Given the description of an element on the screen output the (x, y) to click on. 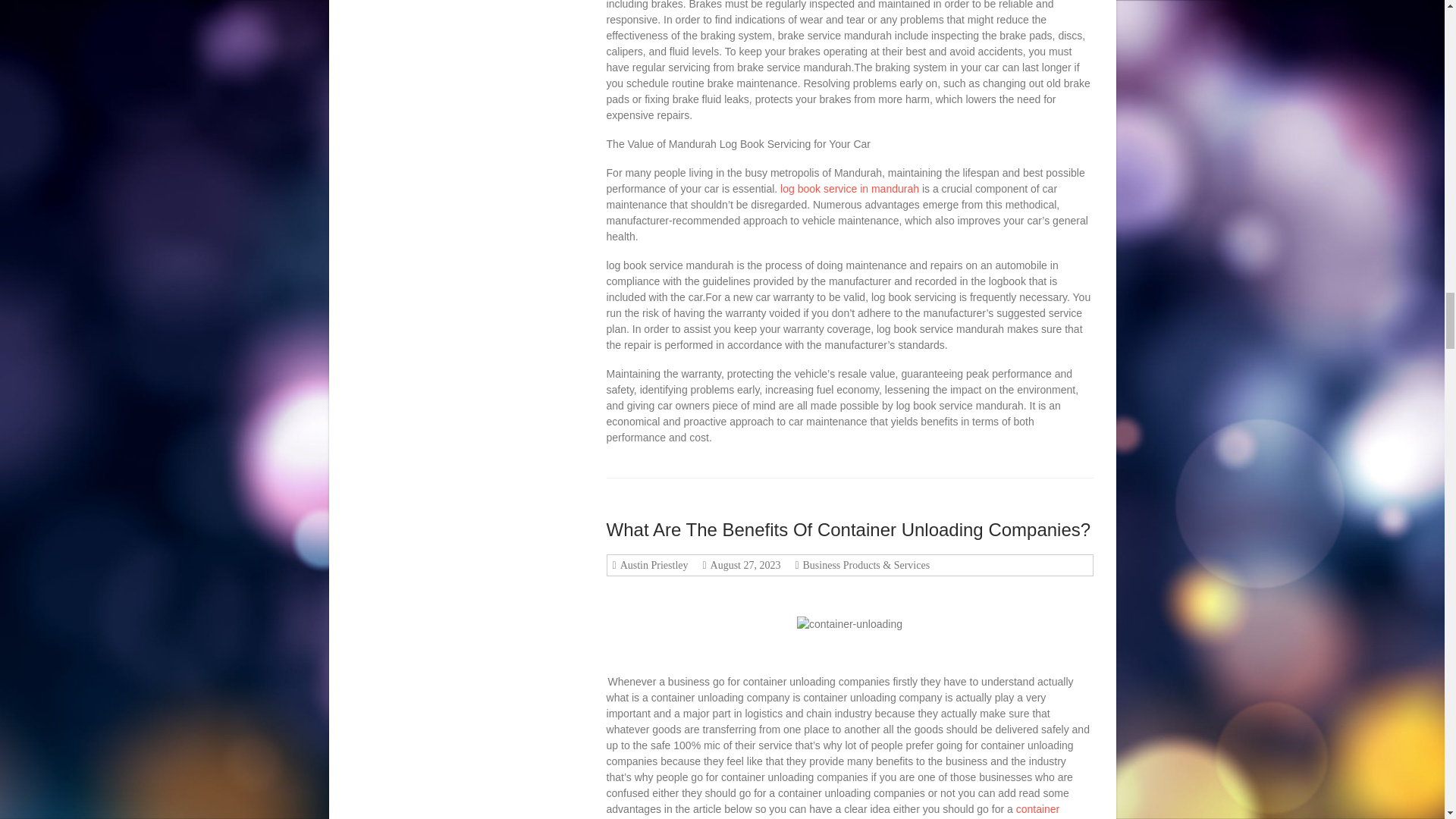
What Are The Benefits Of Container Unloading Companies? (848, 529)
container unloading companies (833, 811)
Austin Priestley (651, 564)
August 27, 2023 (743, 564)
log book service in mandurah (850, 188)
